Given the description of an element on the screen output the (x, y) to click on. 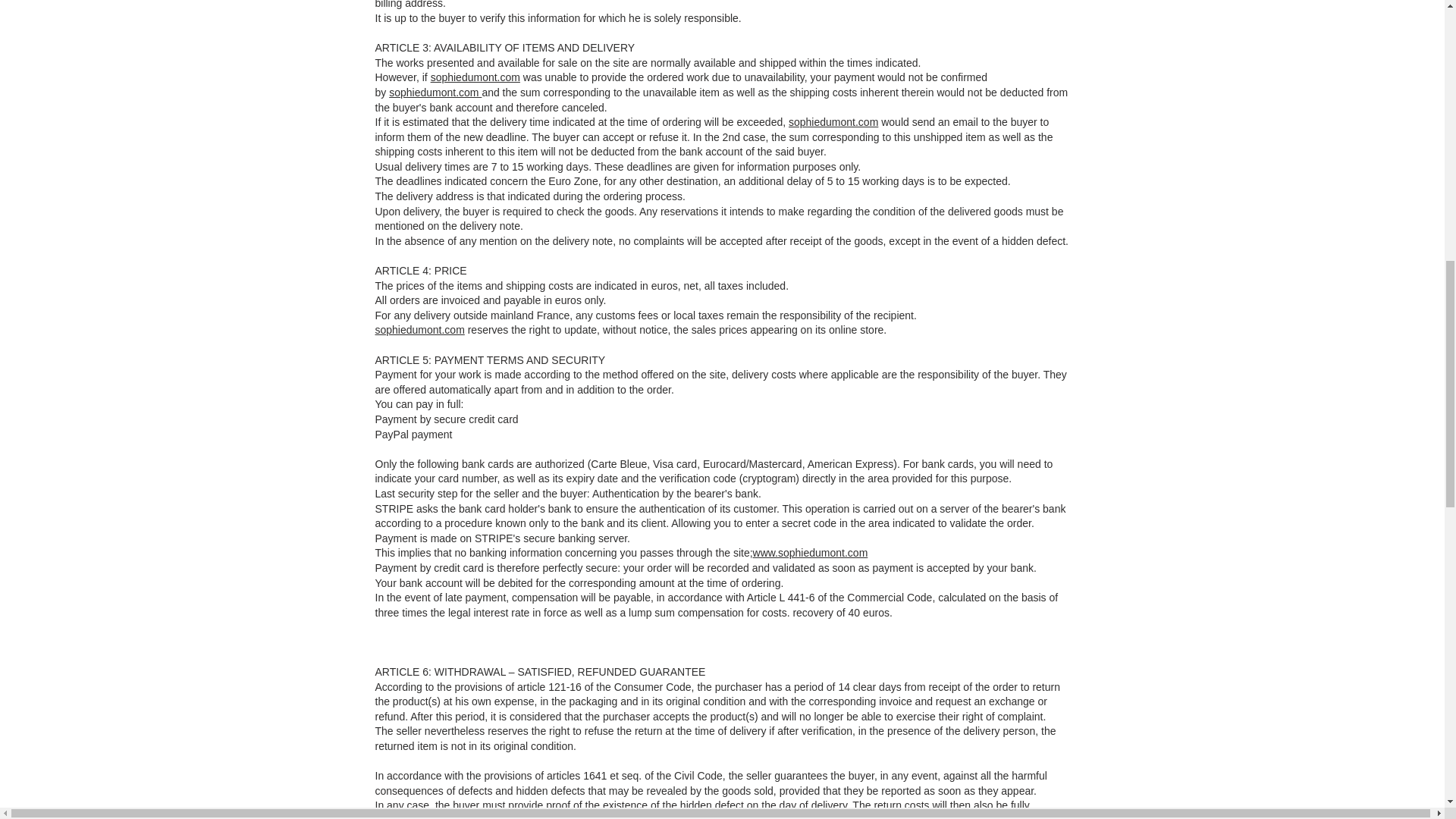
sophiedumont.com  (434, 92)
sophiedumont.com (833, 121)
sophiedumont.com (419, 329)
sophiedumont.com (474, 77)
sophiedumont.com (822, 552)
www. (764, 552)
